Given the description of an element on the screen output the (x, y) to click on. 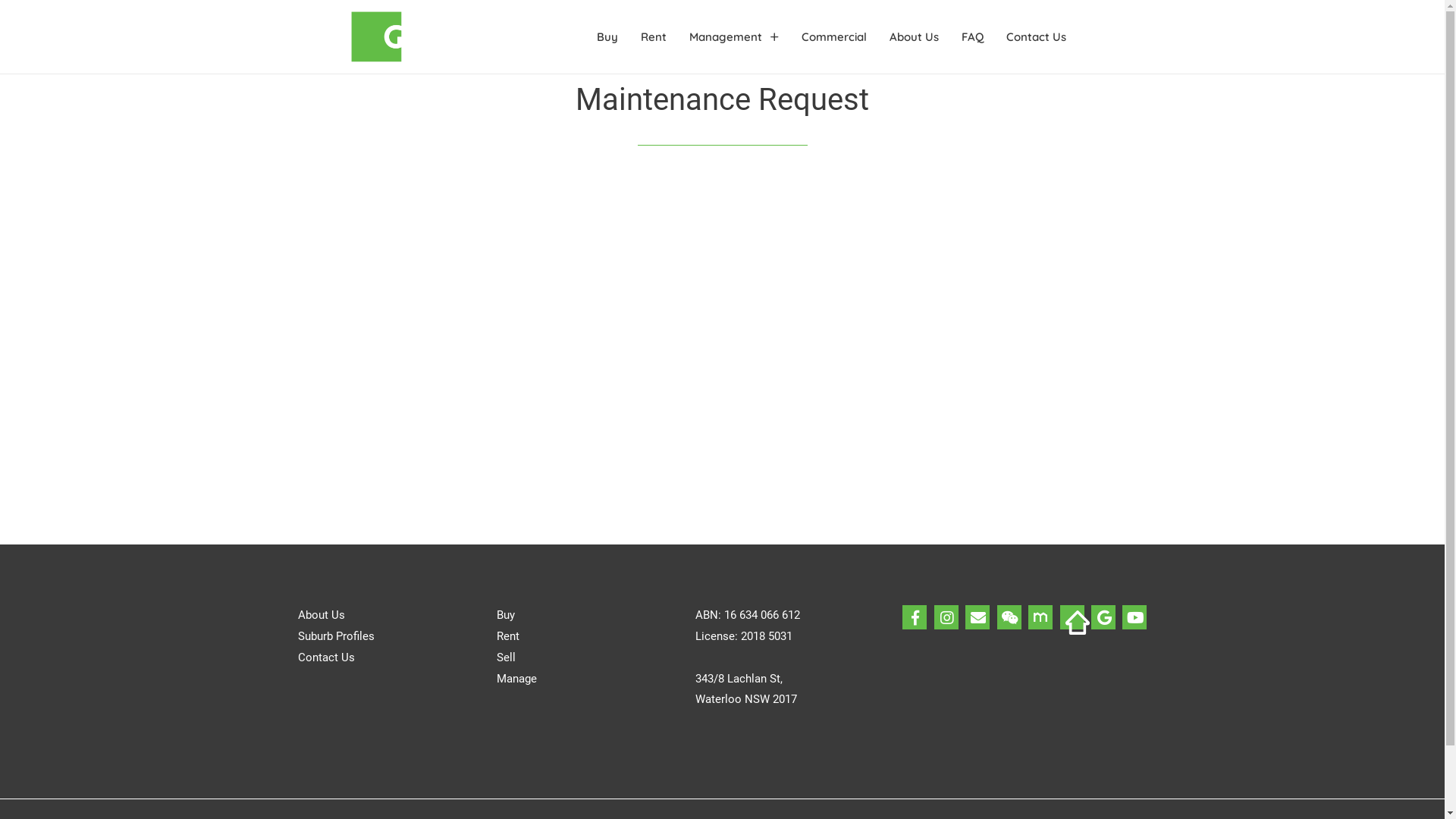
Suburb Profiles Element type: text (335, 636)
Sell Element type: text (505, 657)
Contact Us Element type: text (325, 657)
Rent Element type: text (507, 636)
Commercial Element type: text (834, 36)
Rent Element type: text (653, 36)
About Us Element type: text (320, 614)
Management Element type: text (733, 36)
Contact Us Element type: text (1035, 36)
Manage Element type: text (516, 678)
About Us Element type: text (914, 36)
Buy Element type: text (607, 36)
Buy Element type: text (505, 614)
ABN: 16 634 066 612 Element type: text (747, 614)
FAQ Element type: text (972, 36)
